Given the description of an element on the screen output the (x, y) to click on. 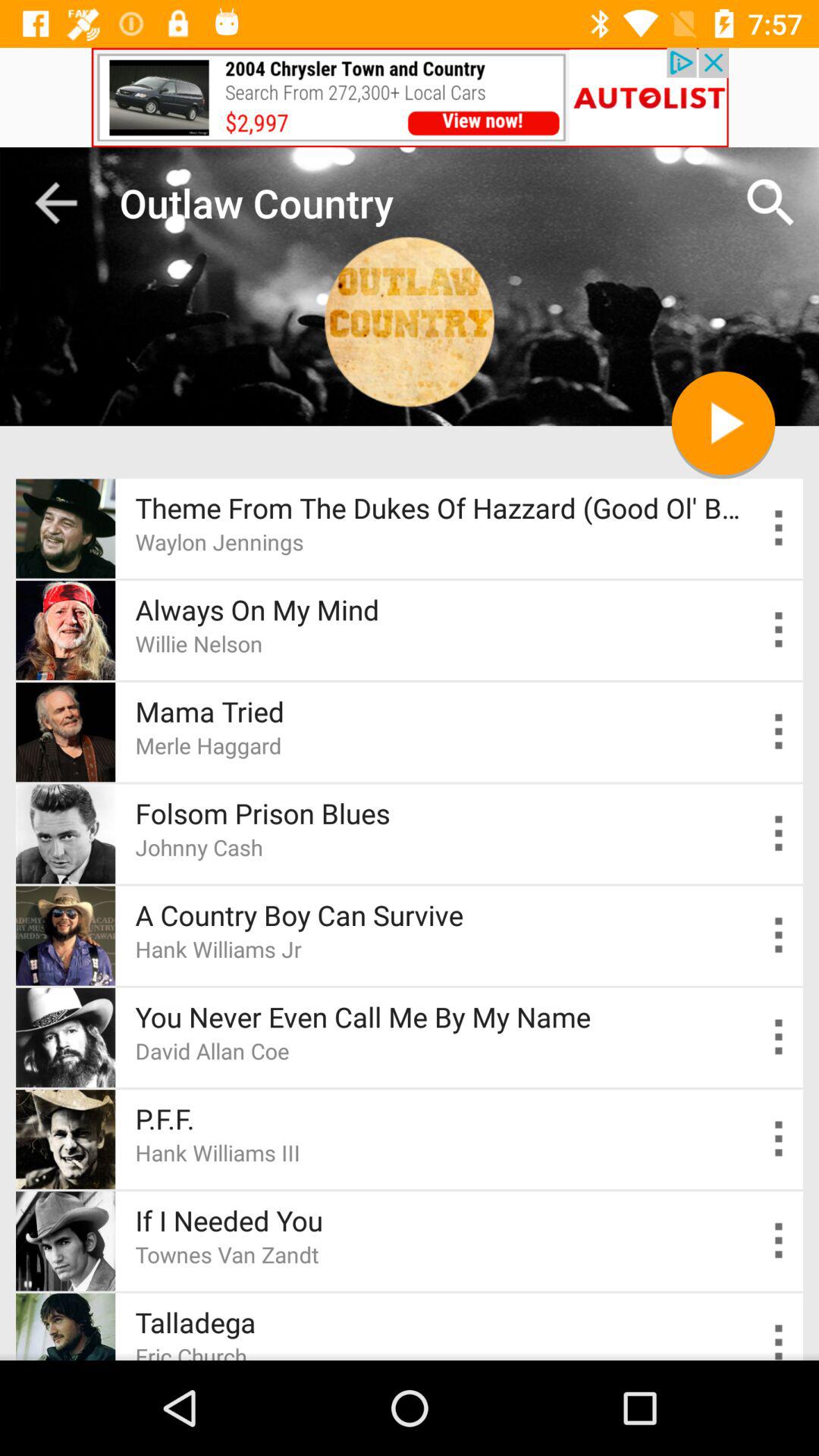
click for more information (779, 528)
